Given the description of an element on the screen output the (x, y) to click on. 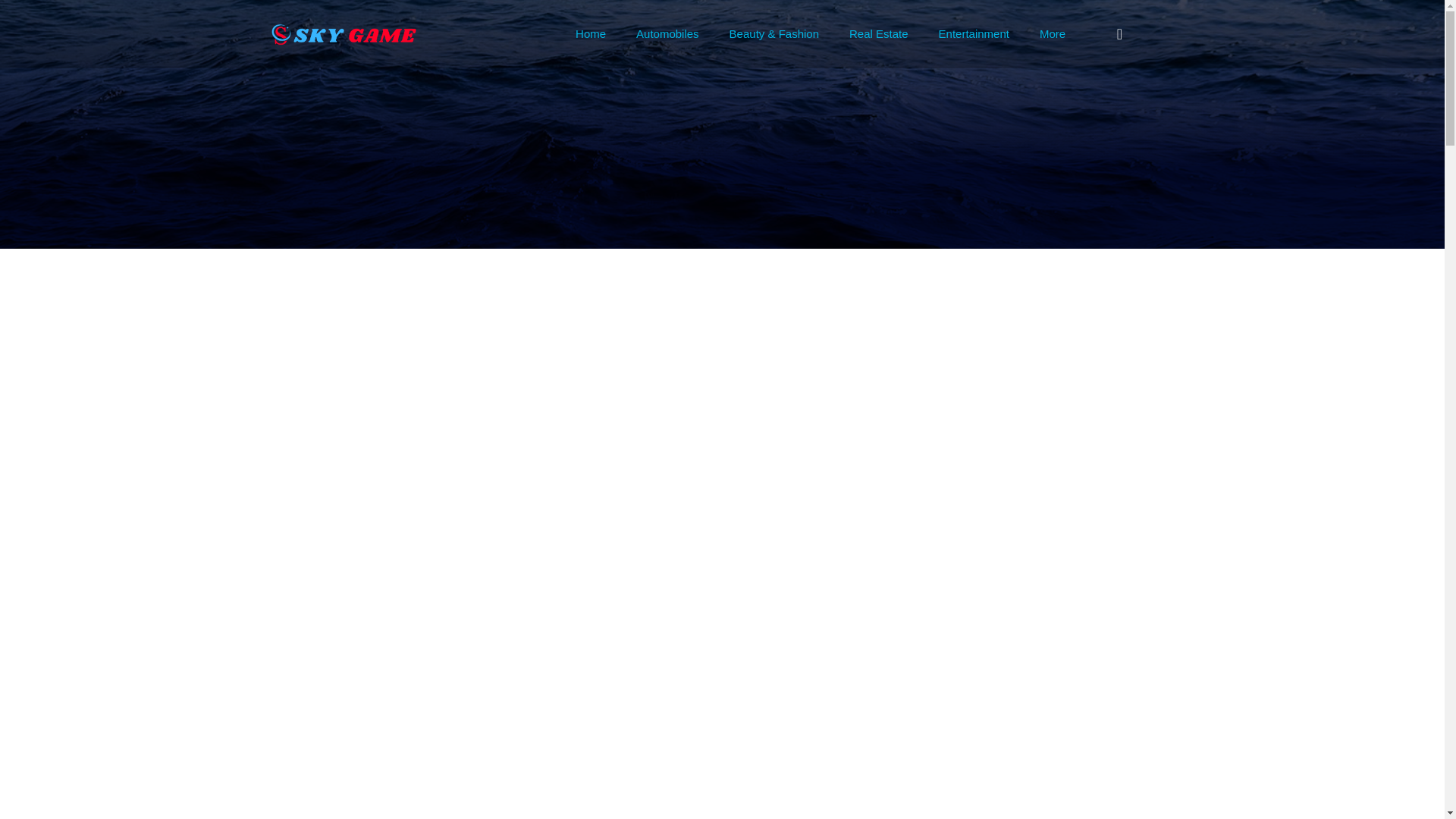
Automobiles (667, 33)
Real Estate (878, 33)
Entertainment (974, 33)
More (1052, 33)
Home (590, 33)
